Given the description of an element on the screen output the (x, y) to click on. 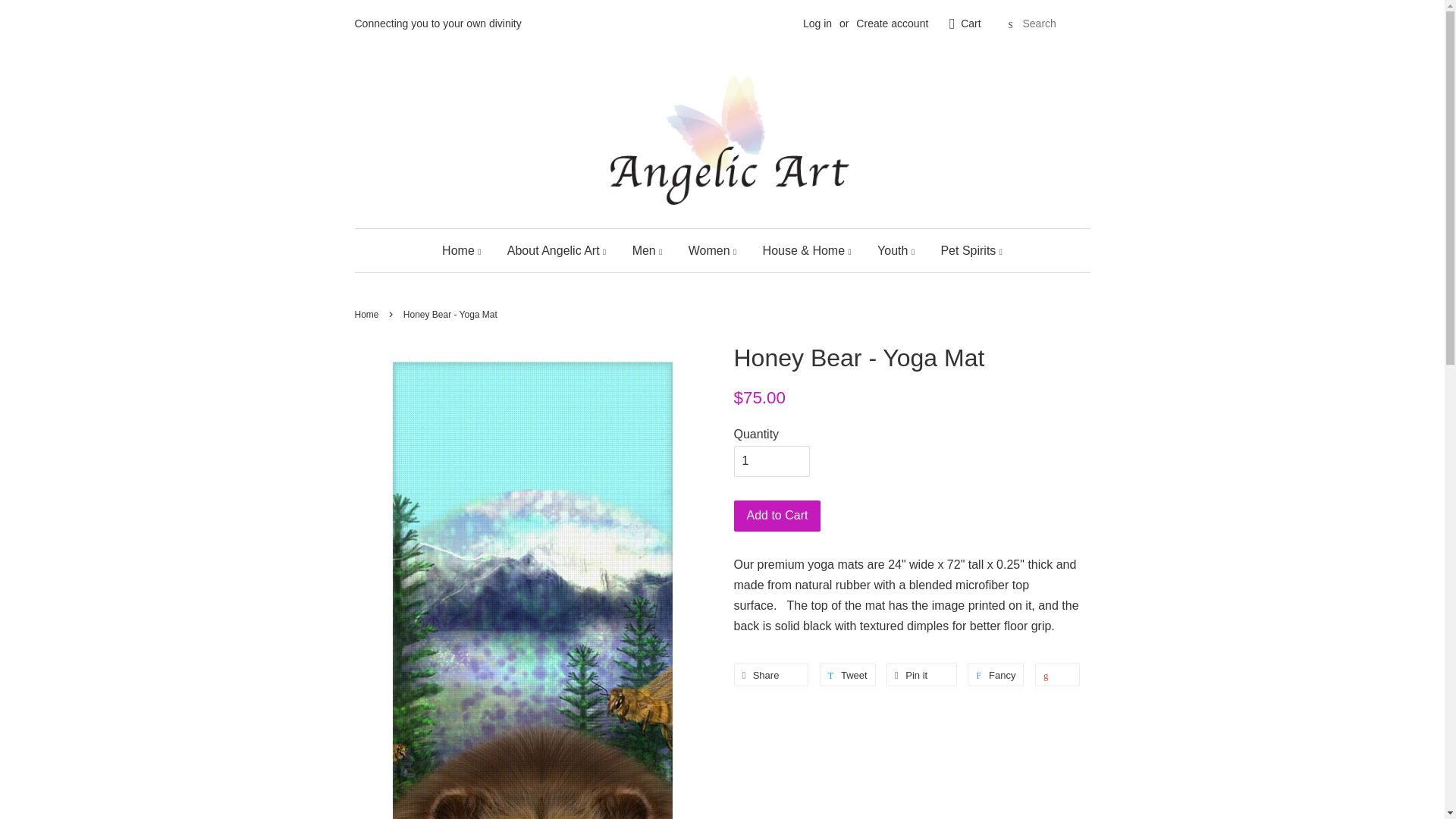
Create account Element type: text (892, 23)
Share
Share on Facebook Element type: text (771, 674)
Youth Element type: text (895, 250)
Fancy
Add to Fancy Element type: text (995, 674)
House & Home Element type: text (806, 250)
Add to Cart Element type: text (777, 515)
Pin it
Pin on Pinterest Element type: text (921, 674)
Tweet
Tweet on Twitter Element type: text (847, 674)
Home Element type: text (467, 250)
Log in Element type: text (817, 23)
Home Element type: text (368, 314)
About Angelic Art Element type: text (556, 250)
Women Element type: text (712, 250)
+1 on Google Plus Element type: text (1057, 674)
Cart Element type: text (970, 24)
Search Element type: text (1010, 24)
Men Element type: text (647, 250)
Pet Spirits Element type: text (964, 250)
